Given the description of an element on the screen output the (x, y) to click on. 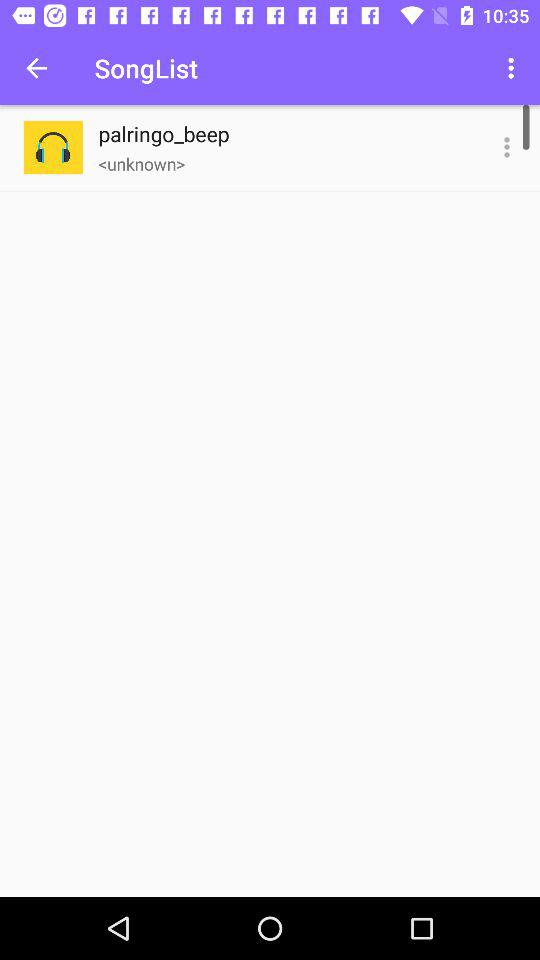
press item to the right of palringo_beep icon (506, 147)
